Given the description of an element on the screen output the (x, y) to click on. 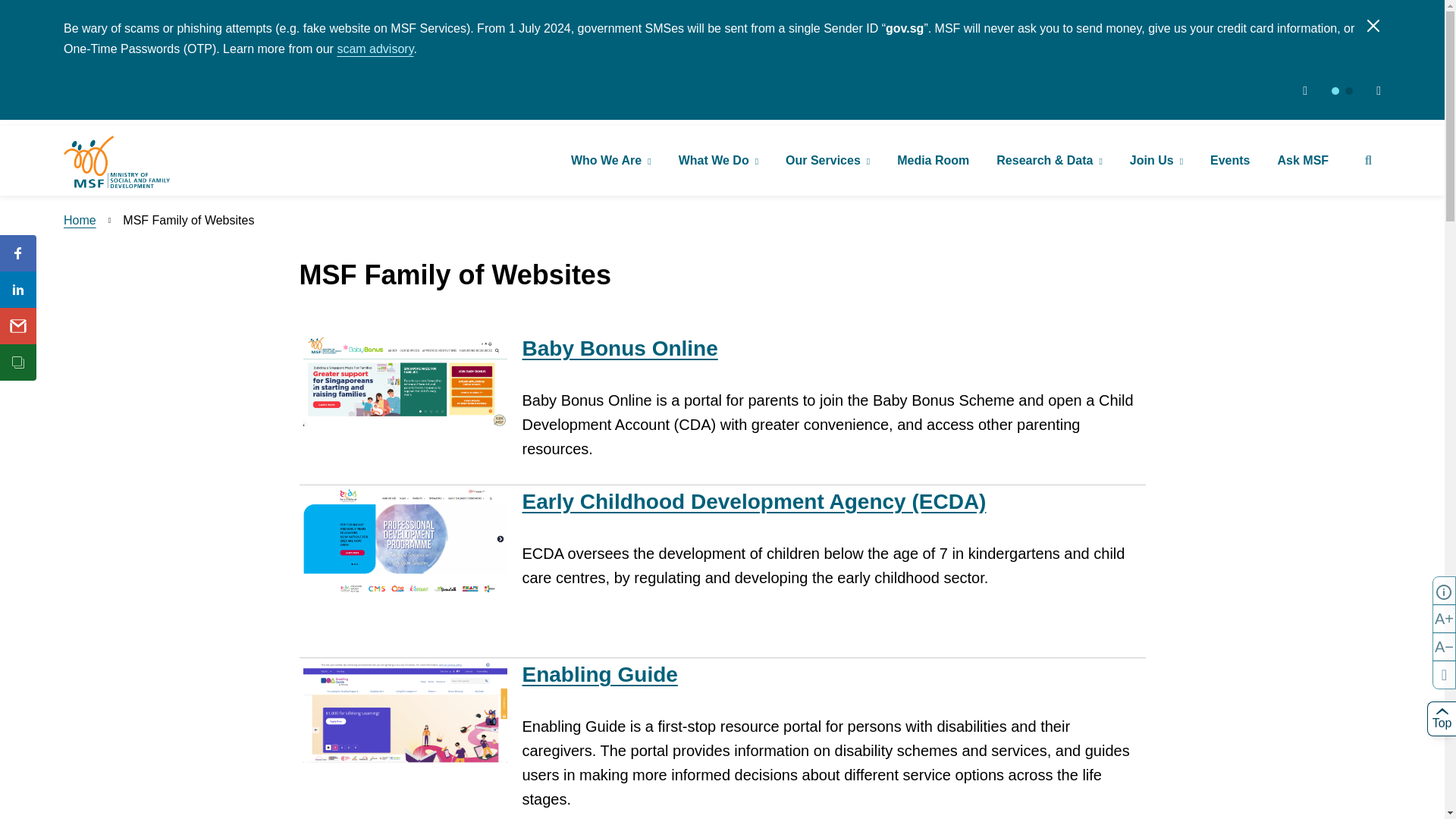
Baby Bonus Website (404, 380)
ECDA website (404, 543)
MSF logo (117, 161)
ECDA website (753, 501)
Enabling guide website (599, 674)
Baby Bonus Website (619, 348)
scam advisory (374, 48)
